Given the description of an element on the screen output the (x, y) to click on. 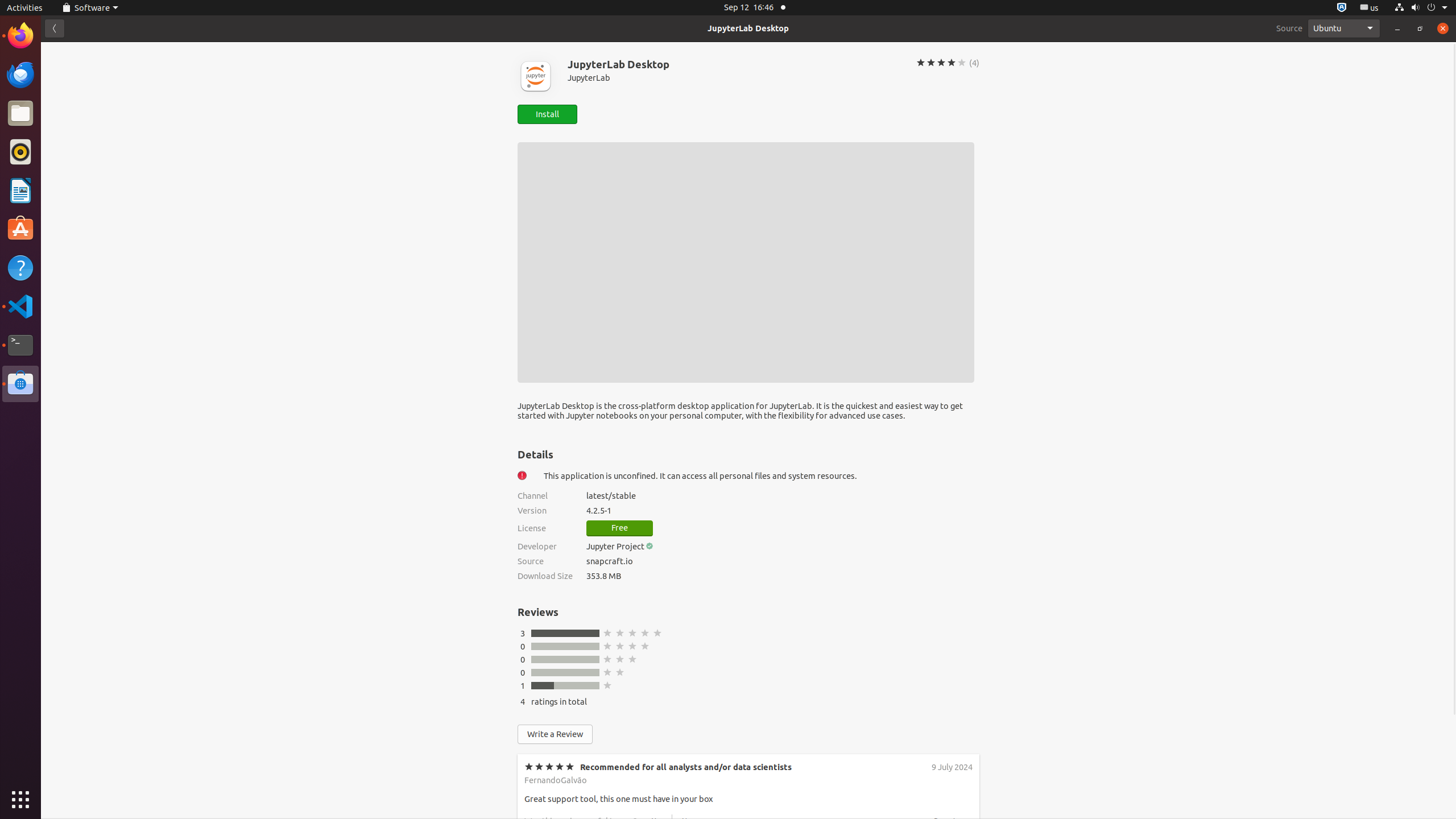
Software Element type: push-button (20, 383)
Version Element type: label (544, 510)
JupyterLab Desktop Element type: label (747, 27)
1 Element type: label (522, 685)
Minimize Element type: push-button (1397, 27)
